Given the description of an element on the screen output the (x, y) to click on. 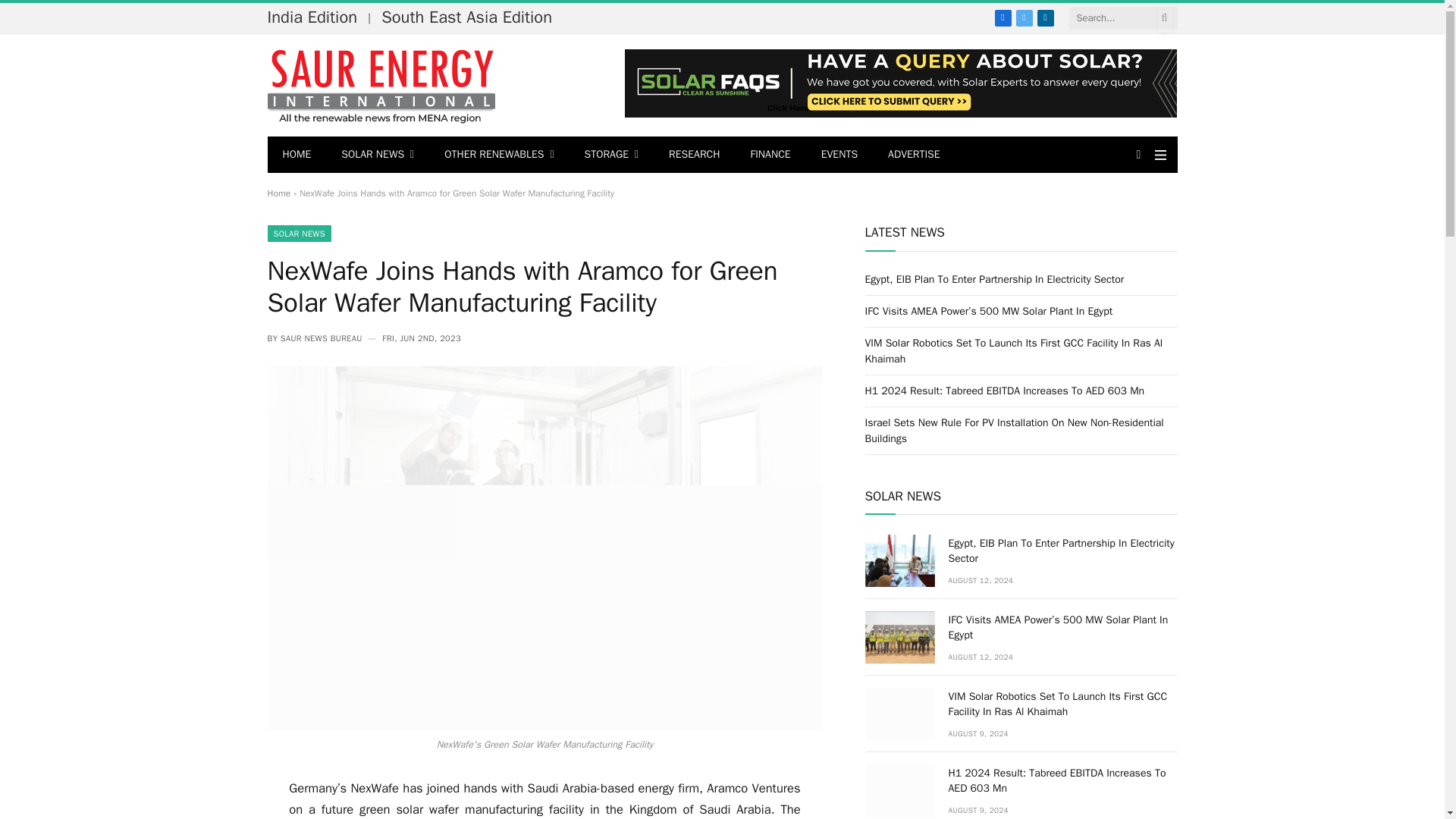
OTHER RENEWABLES (499, 154)
Renewable Energy Stories (380, 85)
LinkedIn (1045, 17)
Switch to Dark Design - easier on eyes. (1138, 154)
Facebook (1002, 17)
India Edition (315, 17)
SOLAR NEWS (377, 154)
HOME (296, 154)
Twitter (1024, 17)
